Given the description of an element on the screen output the (x, y) to click on. 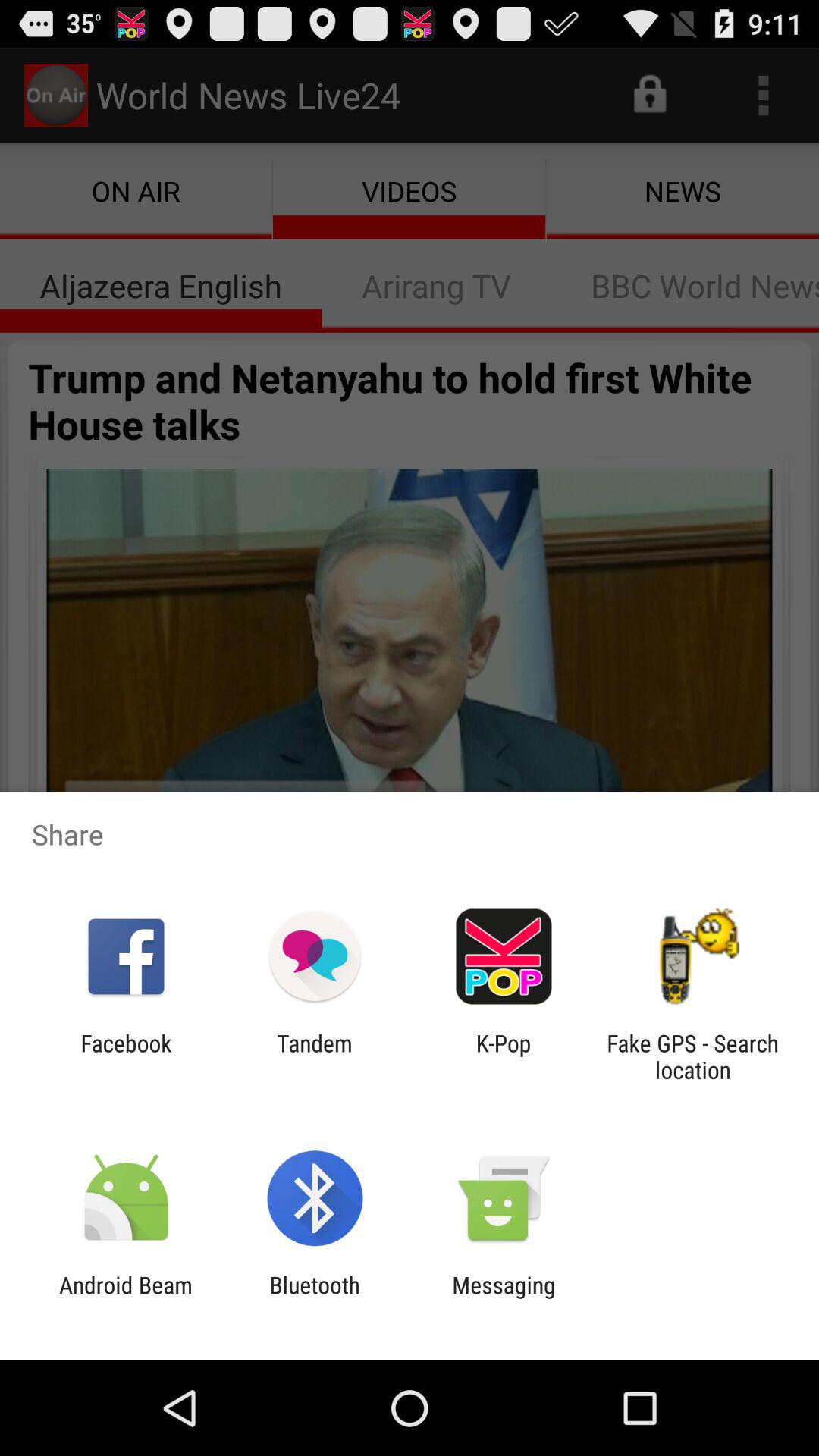
scroll until android beam icon (125, 1298)
